Given the description of an element on the screen output the (x, y) to click on. 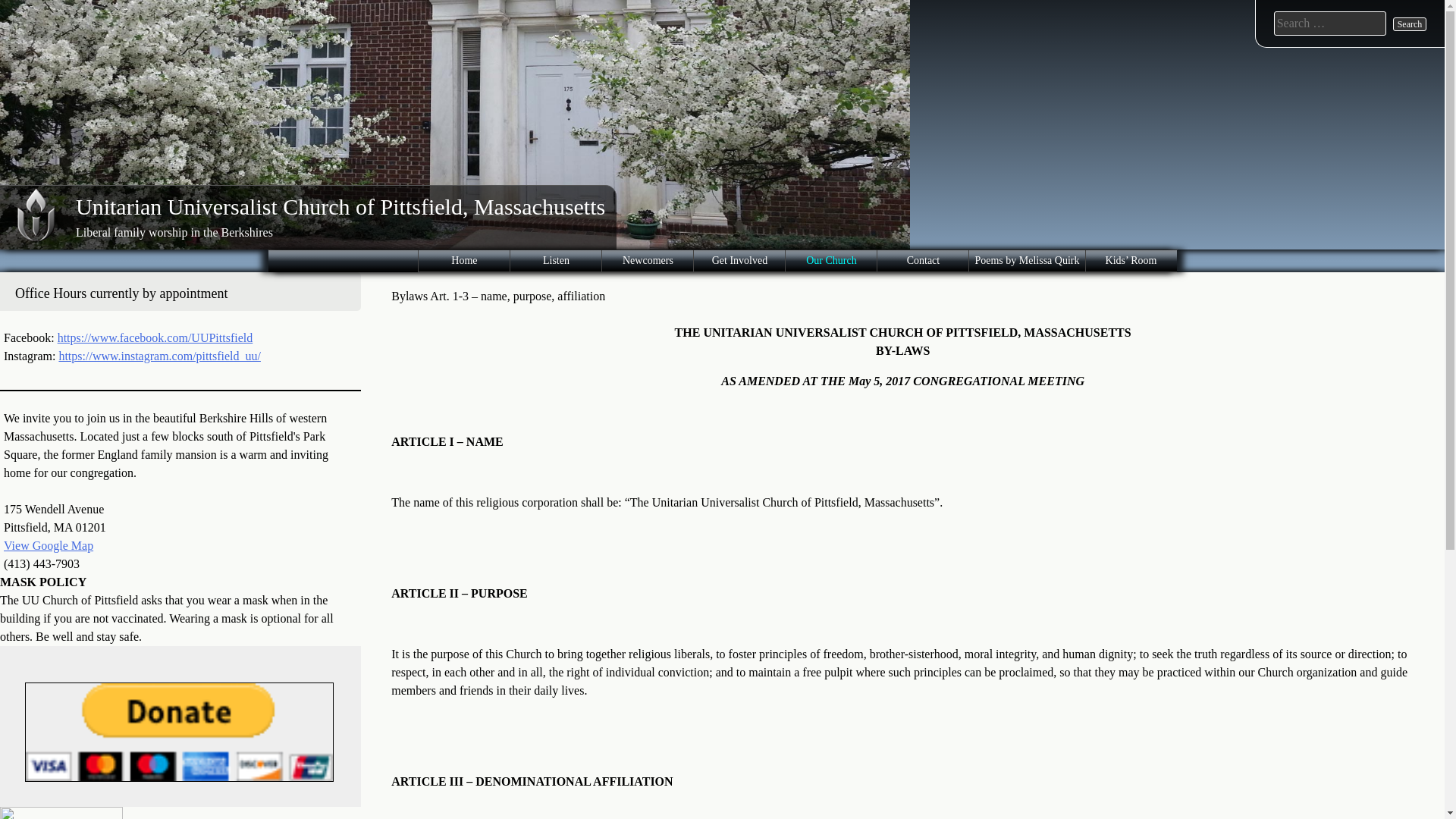
Unitarian Universalist Church of Pittsfield, Massachusetts (340, 206)
Newcomers (647, 260)
Unitarian Universalist Church of Pittsfield, Massachusetts (340, 206)
View Google Map (48, 545)
Contact (178, 732)
Listen (922, 260)
Poems by Melissa Quirk (556, 260)
Our Church (1026, 260)
Get Involved (831, 260)
Search (739, 260)
Search (1409, 24)
Home (1409, 24)
Search (464, 260)
